Given the description of an element on the screen output the (x, y) to click on. 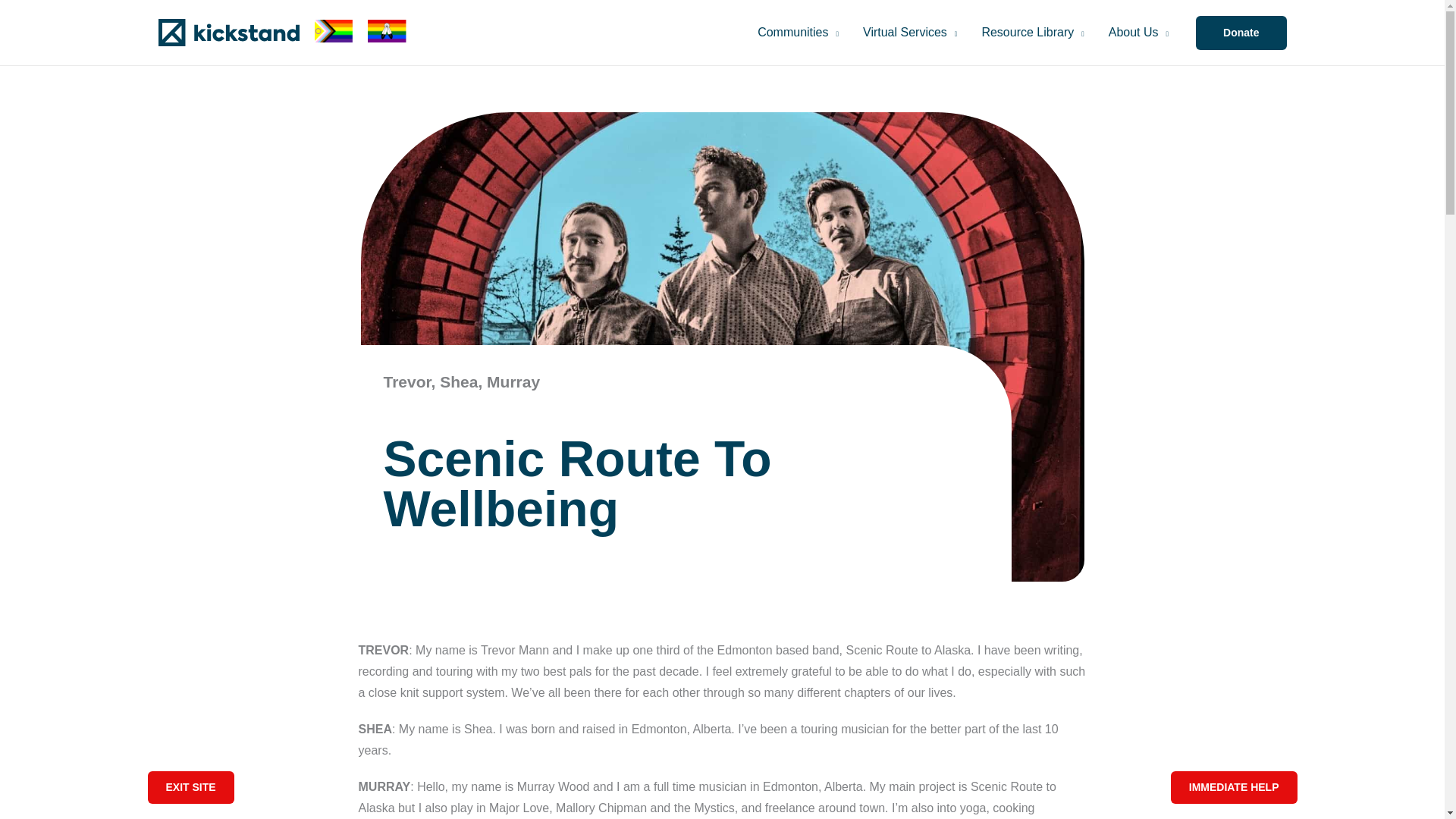
About Us (1138, 31)
Resource Library (1032, 31)
Donate (1240, 32)
Virtual Services (909, 31)
Communities (797, 31)
